Given the description of an element on the screen output the (x, y) to click on. 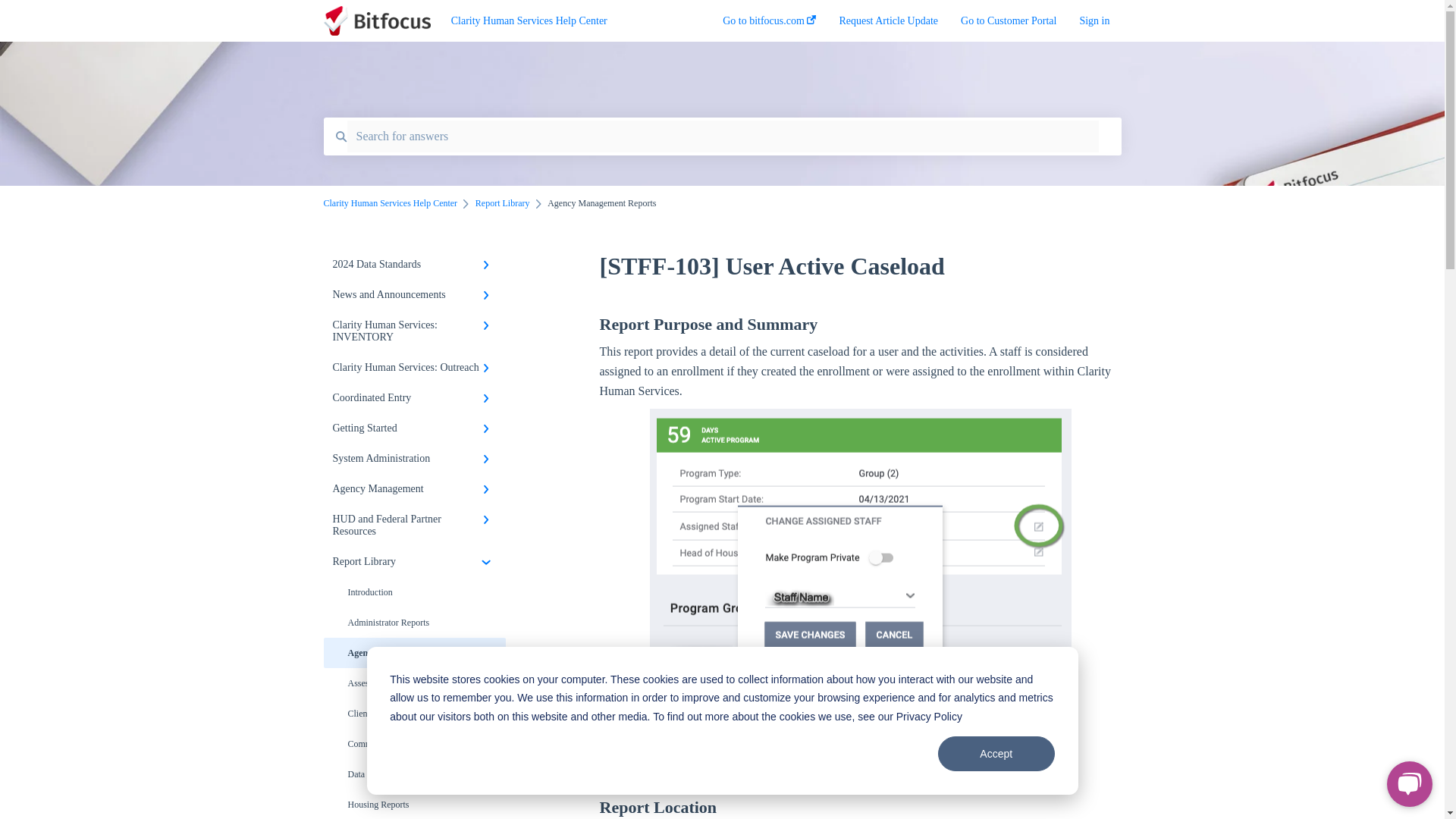
Go to Customer Portal (1008, 25)
Go to bitfocus.com (768, 25)
Clarity Human Services Help Center (564, 21)
Request Article Update (887, 25)
